Given the description of an element on the screen output the (x, y) to click on. 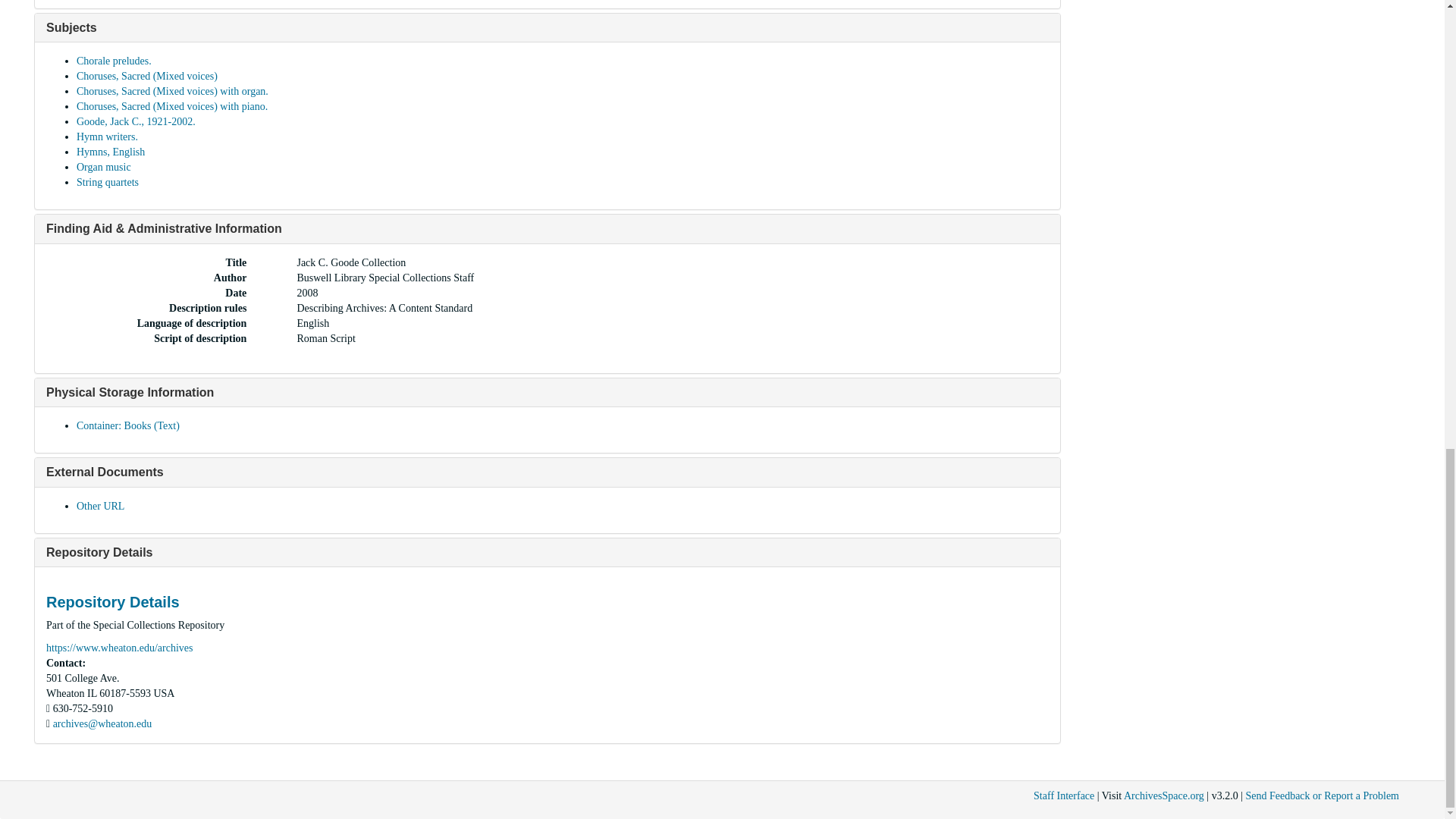
Other URL (100, 505)
Subjects (71, 27)
Hymns, English (110, 152)
External Documents (104, 472)
Hymn writers. (107, 136)
Send email (102, 723)
String quartets (107, 182)
Chorale preludes. (114, 60)
Organ music (104, 166)
Goode, Jack C., 1921-2002. (136, 121)
Physical Storage Information (130, 391)
